Given the description of an element on the screen output the (x, y) to click on. 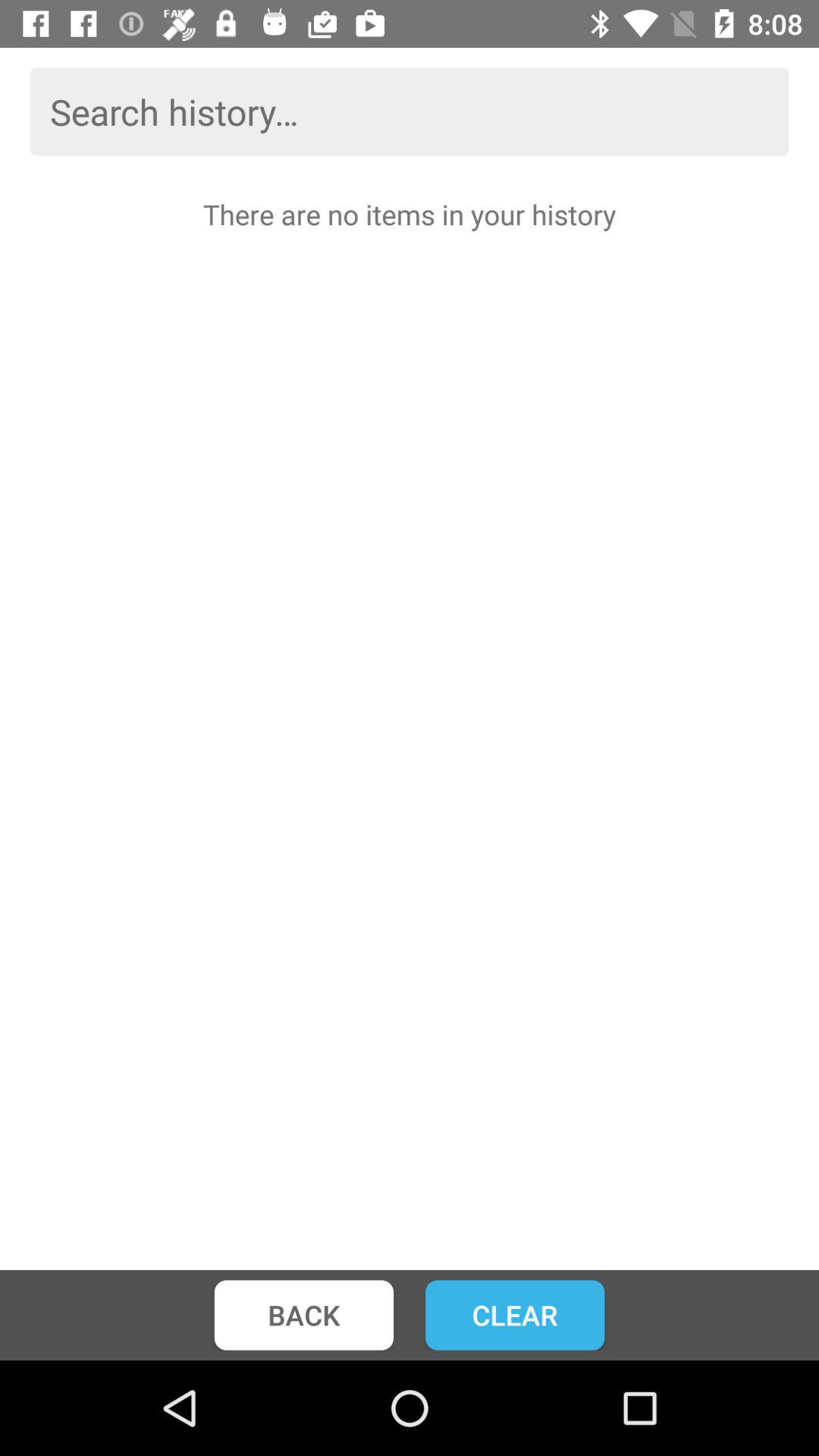
search history (409, 111)
